Given the description of an element on the screen output the (x, y) to click on. 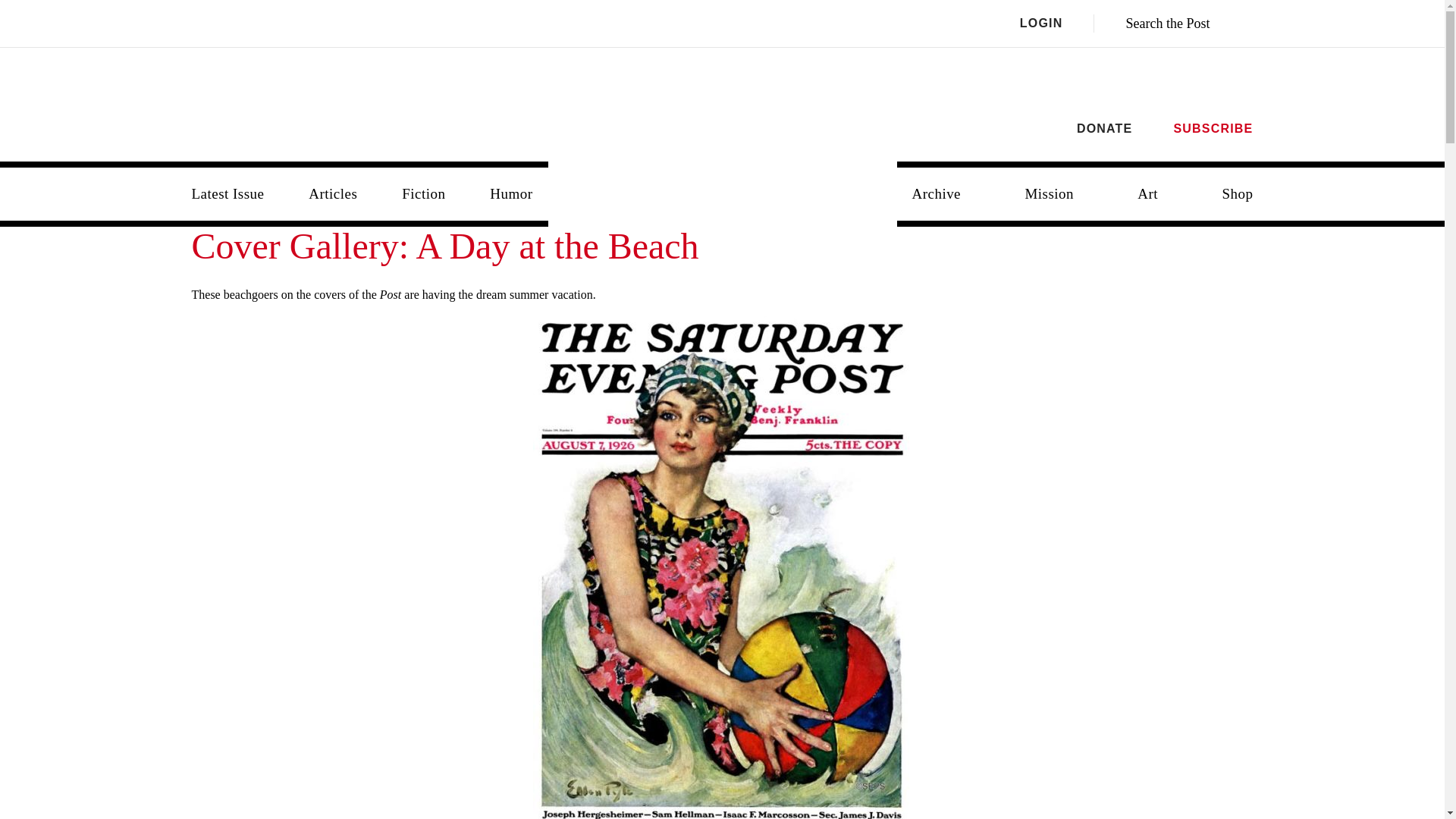
Articles (333, 193)
Art (1147, 193)
The Saturday Evening Post (722, 181)
Humor (510, 193)
Shop (1237, 193)
SUBSCRIBE (1212, 128)
Mission (1049, 193)
Archive (935, 193)
DONATE (1104, 128)
LOGIN (1057, 23)
